Given the description of an element on the screen output the (x, y) to click on. 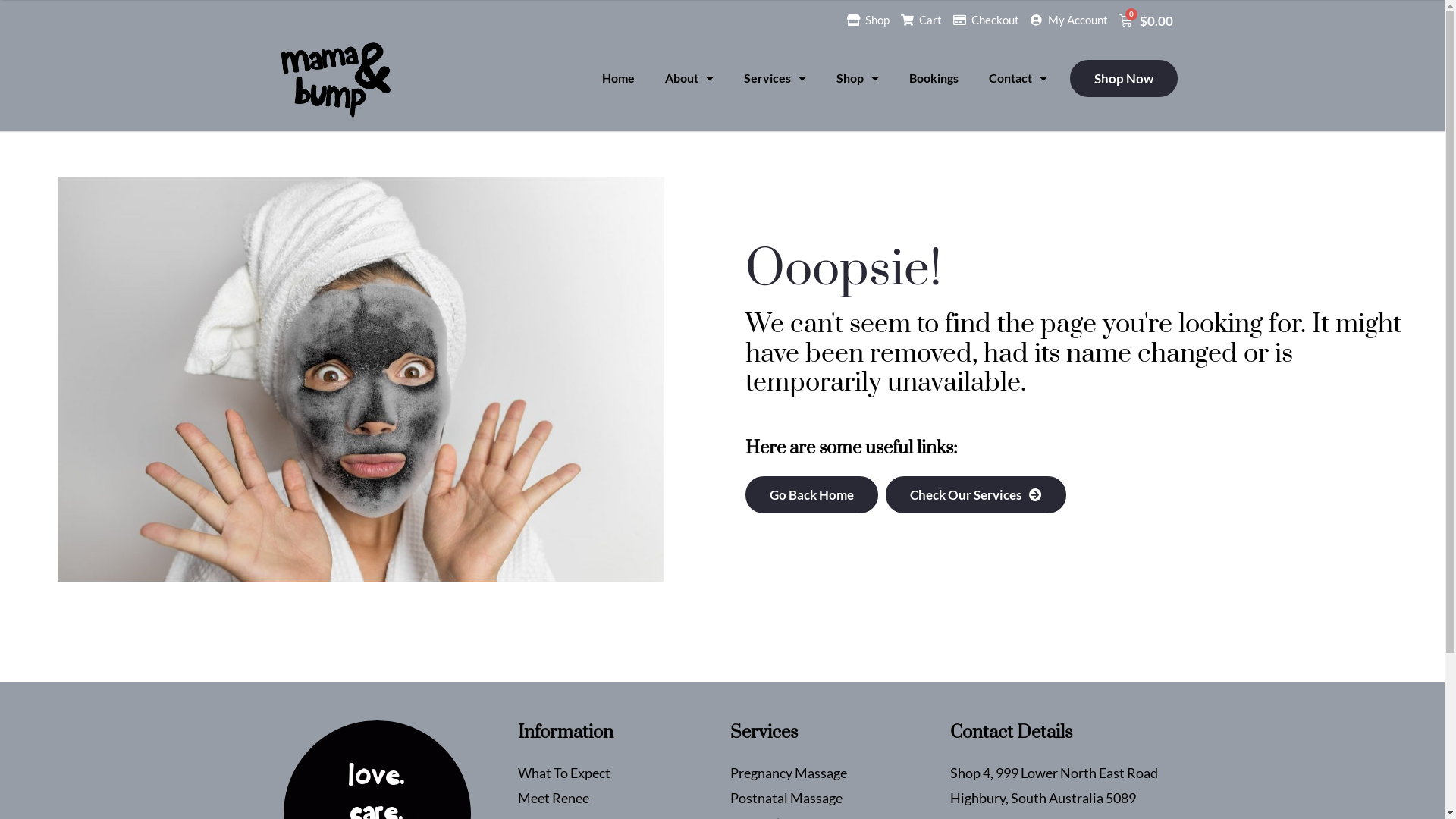
What To Expect Element type: text (619, 772)
Home Element type: text (617, 77)
Check Our Services Element type: text (975, 494)
My Account Element type: text (1069, 20)
Shop Now Element type: text (1122, 78)
Contact Element type: text (1017, 77)
Cart Element type: text (920, 20)
Shop Element type: text (856, 77)
$0.00
0 Element type: text (1147, 20)
Services Element type: text (774, 77)
Shop Element type: text (868, 20)
Postnatal Massage Element type: text (839, 797)
Bookings Element type: text (932, 77)
Checkout Element type: text (986, 20)
About Element type: text (688, 77)
Meet Renee Element type: text (619, 797)
Pregnancy Massage Element type: text (839, 772)
Go Back Home Element type: text (810, 494)
